Given the description of an element on the screen output the (x, y) to click on. 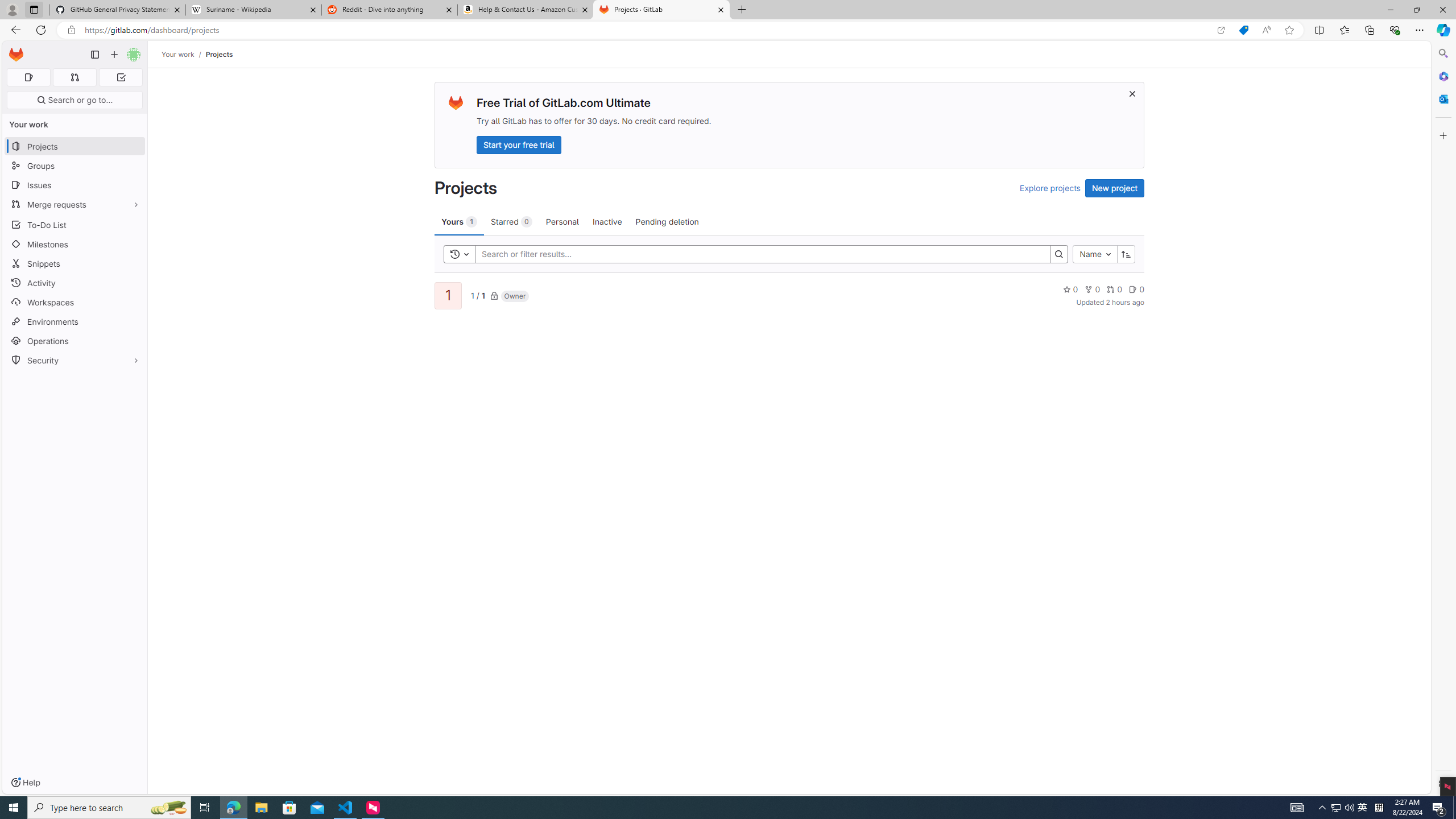
Your work/ (183, 53)
Merge requests (74, 203)
Your work (178, 53)
Yours 1 (458, 221)
Security (74, 359)
Class: s16 (494, 295)
Environments (74, 321)
Projects (218, 53)
Assigned issues 0 (28, 76)
Primary navigation sidebar (94, 54)
